Given the description of an element on the screen output the (x, y) to click on. 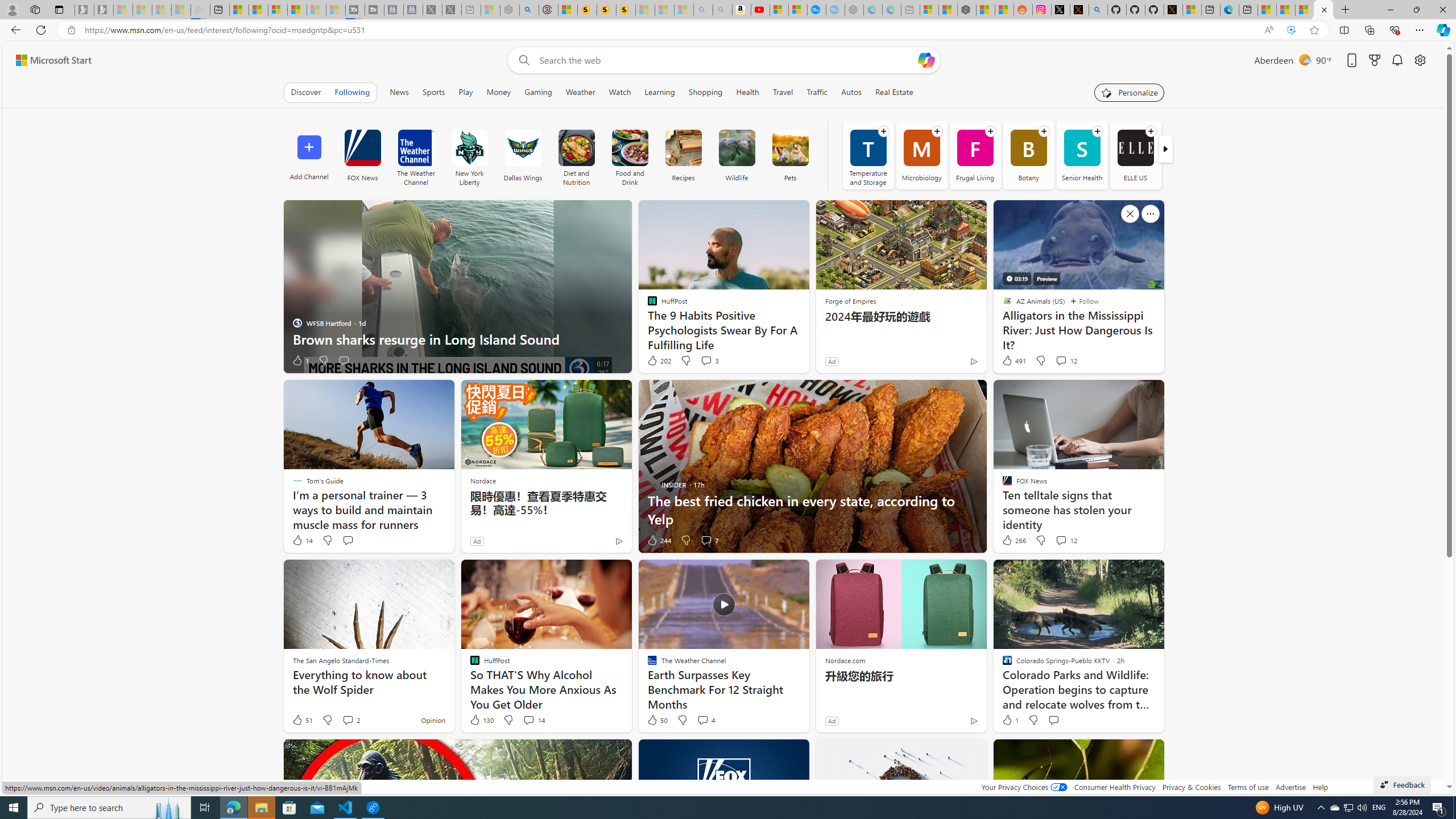
View comments 2 Comment (350, 719)
Welcome to Microsoft Edge (1229, 9)
Shopping (705, 92)
50 Like (657, 719)
Wildlife (736, 147)
Opinion: Op-Ed and Commentary - USA TODAY (816, 9)
